Given the description of an element on the screen output the (x, y) to click on. 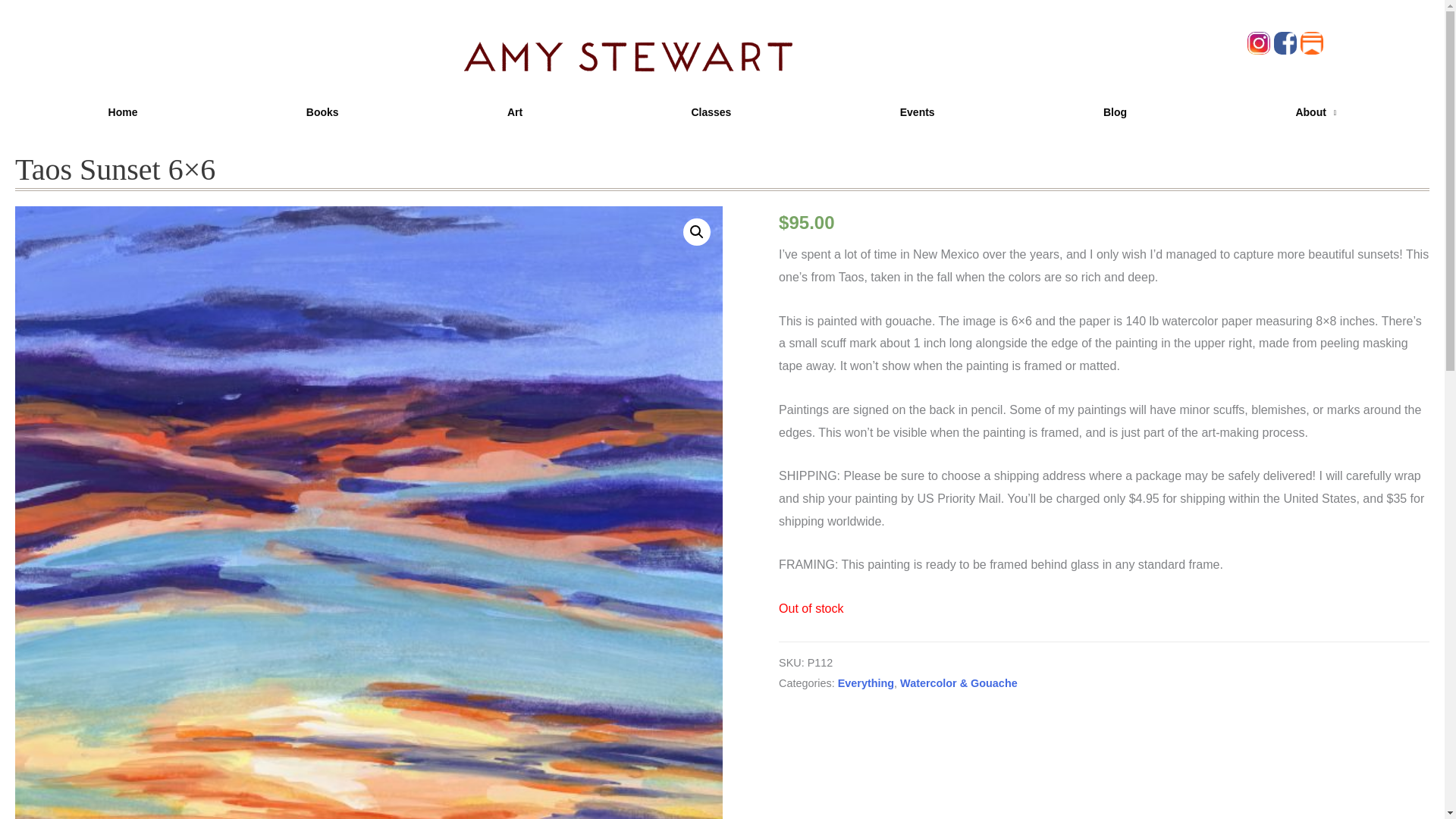
Amy Stewart on Instagram (1260, 42)
Amy Stewart on Facebook (1287, 42)
About (1315, 111)
Books (322, 111)
Everything (865, 683)
Amy Stewart on Substack (1313, 42)
Home (122, 111)
Events (916, 111)
Blog (1115, 111)
Classes (710, 111)
